Given the description of an element on the screen output the (x, y) to click on. 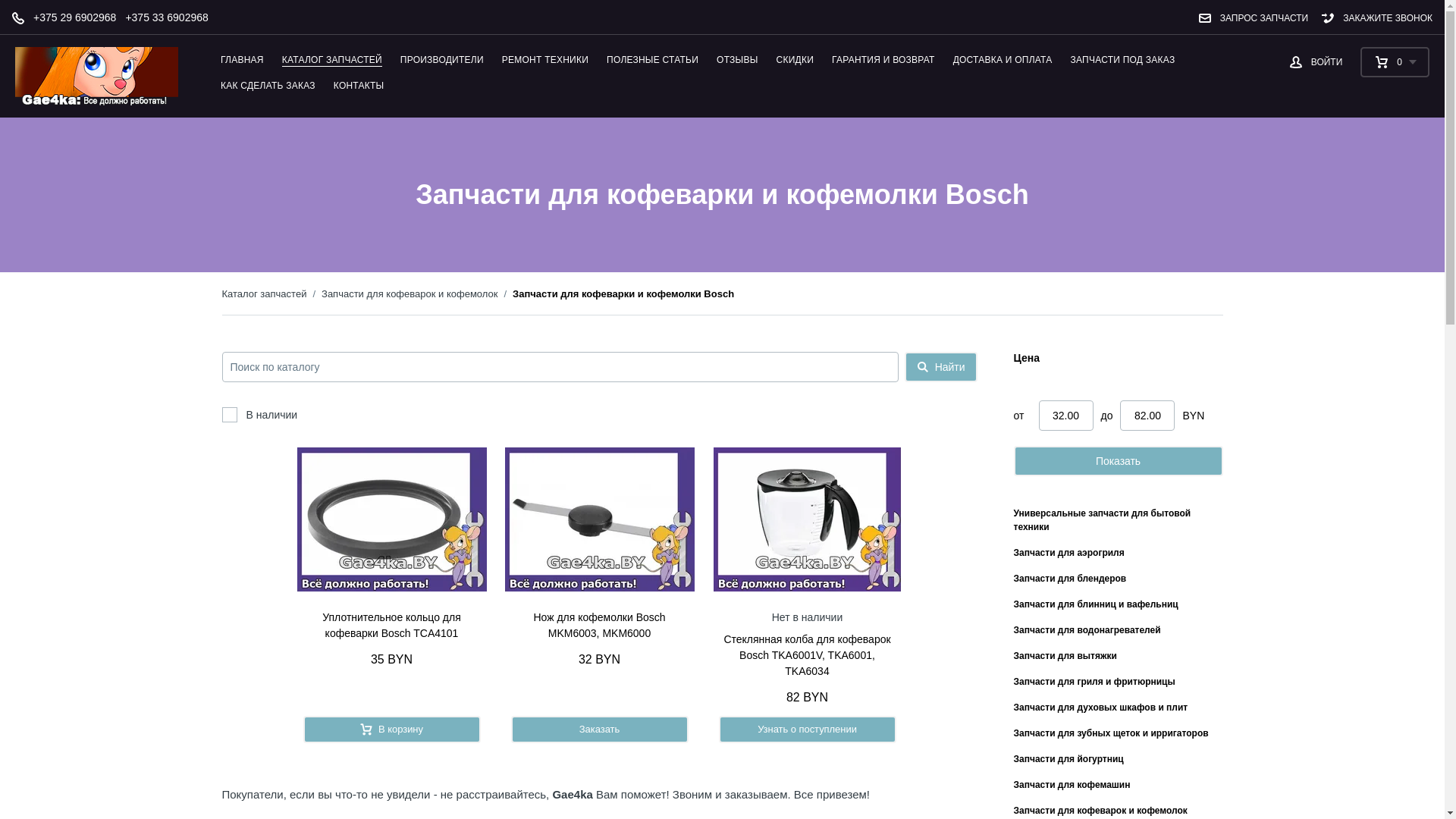
+375 33 6902968 Element type: text (161, 17)
423296 bosch Element type: hover (391, 519)
0 Element type: text (1394, 62)
+375 29 6902968 Element type: text (70, 17)
